Given the description of an element on the screen output the (x, y) to click on. 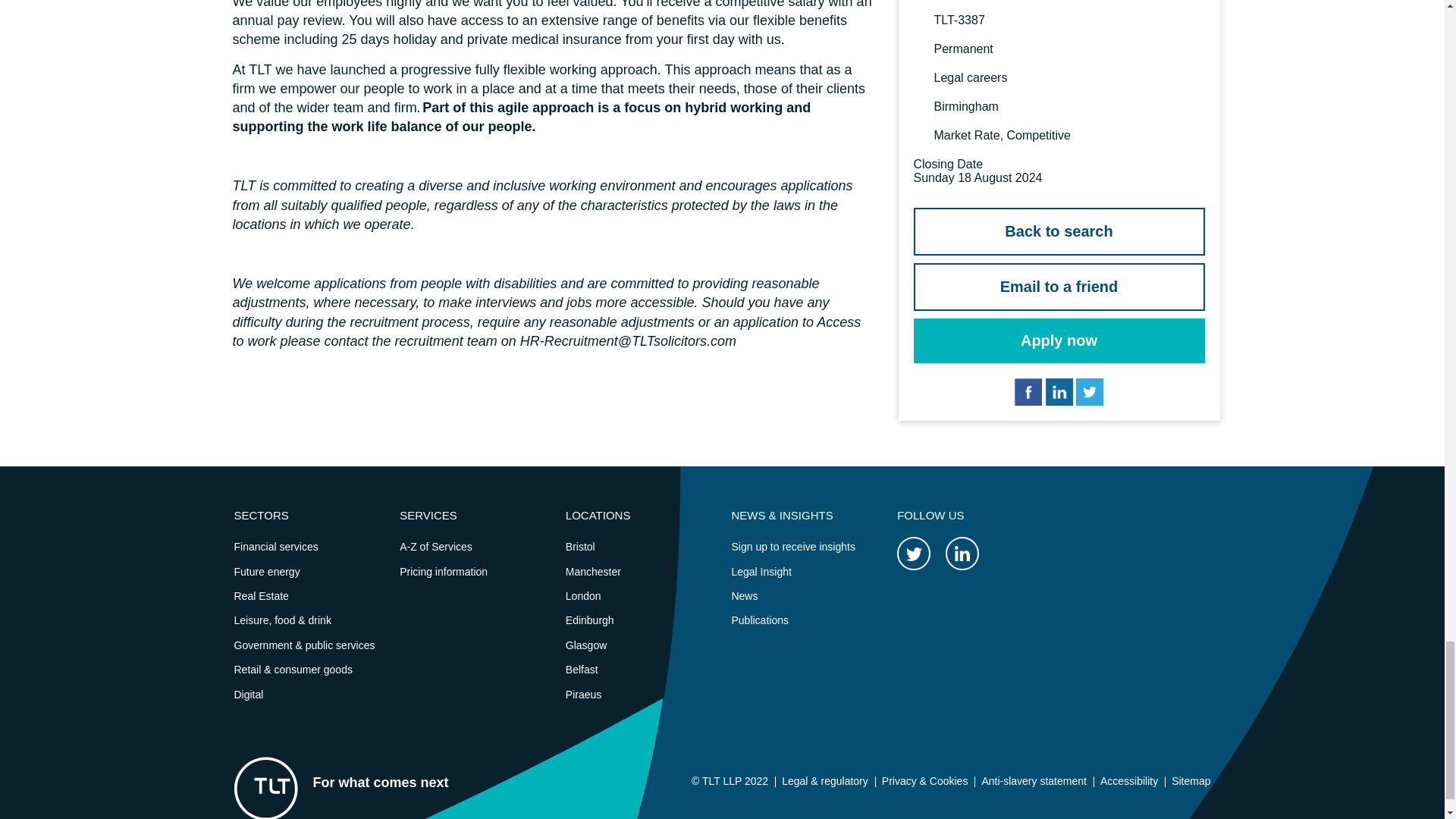
Pricing information (442, 572)
